Given the description of an element on the screen output the (x, y) to click on. 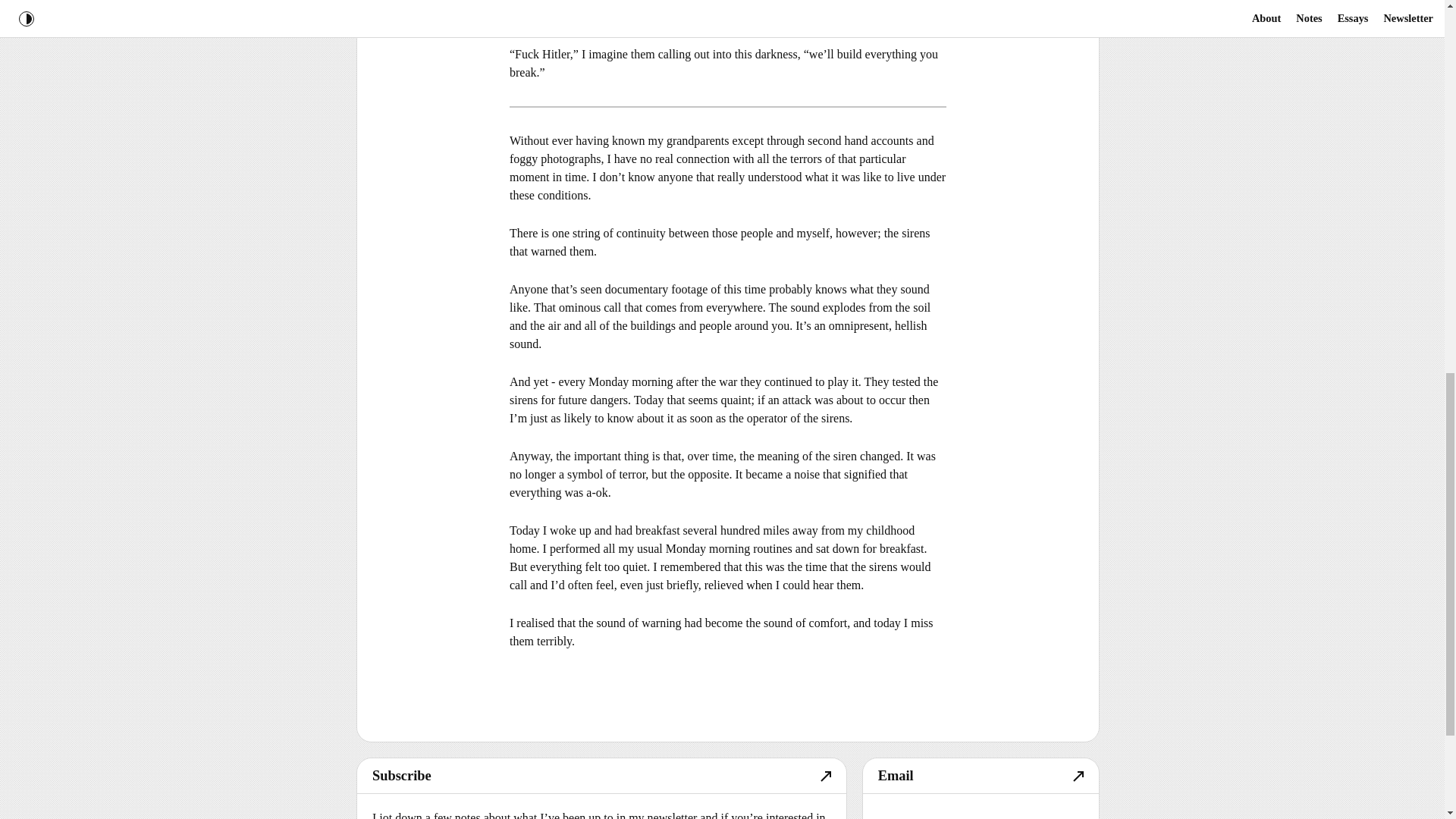
Email (981, 776)
Subscribe (600, 776)
